Given the description of an element on the screen output the (x, y) to click on. 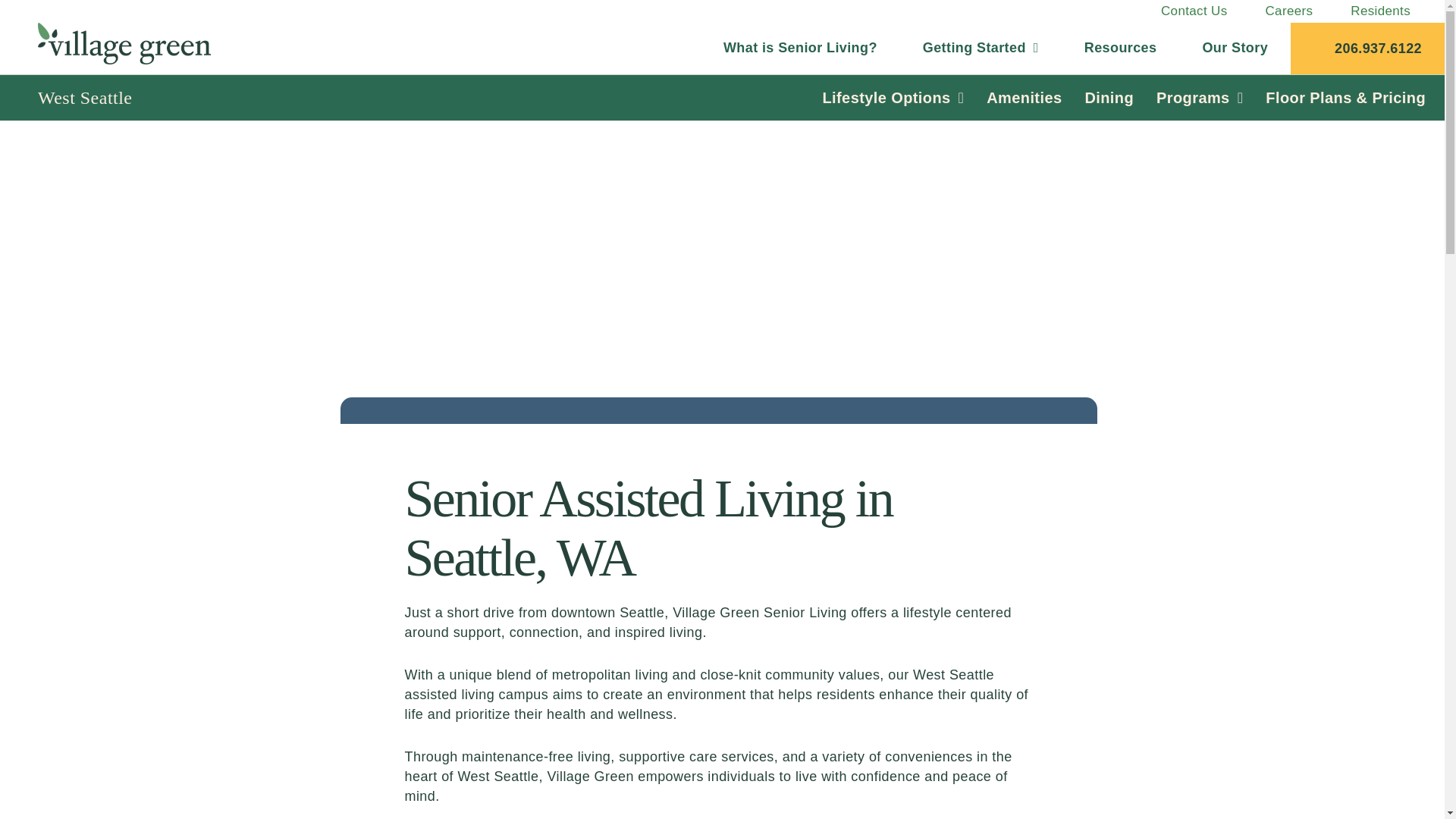
West Seattle (84, 97)
Programs (1198, 97)
Village Green Senior Living Careers (1289, 11)
Resources (1120, 47)
Lifestyle Options (892, 97)
Village Green Senior Living (133, 47)
Contact Village Green Senior Living (1193, 11)
Careers (1289, 11)
Dining (1108, 97)
Village Green Senior Living Resident Portal (1380, 11)
Contact Us (1193, 11)
About Village Green Senior Living (1234, 47)
Village Green Senior Living Information (980, 47)
Village Green Senior Living Resources (1120, 47)
Our Story (1234, 47)
